Given the description of an element on the screen output the (x, y) to click on. 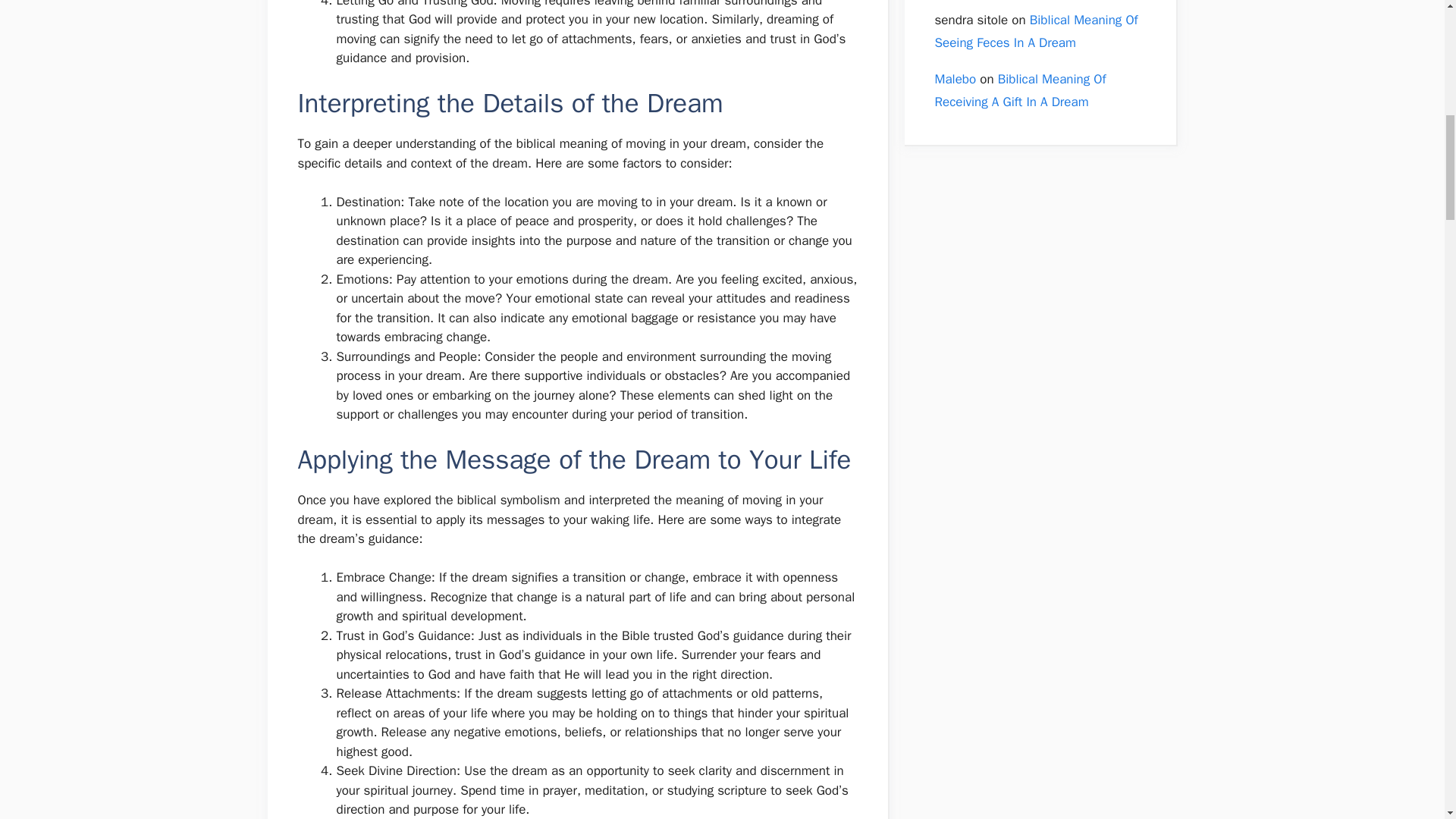
Malebo (954, 78)
Biblical Meaning Of Receiving A Gift In A Dream (1019, 90)
Biblical Meaning Of Seeing Feces In A Dream (1035, 31)
